Given the description of an element on the screen output the (x, y) to click on. 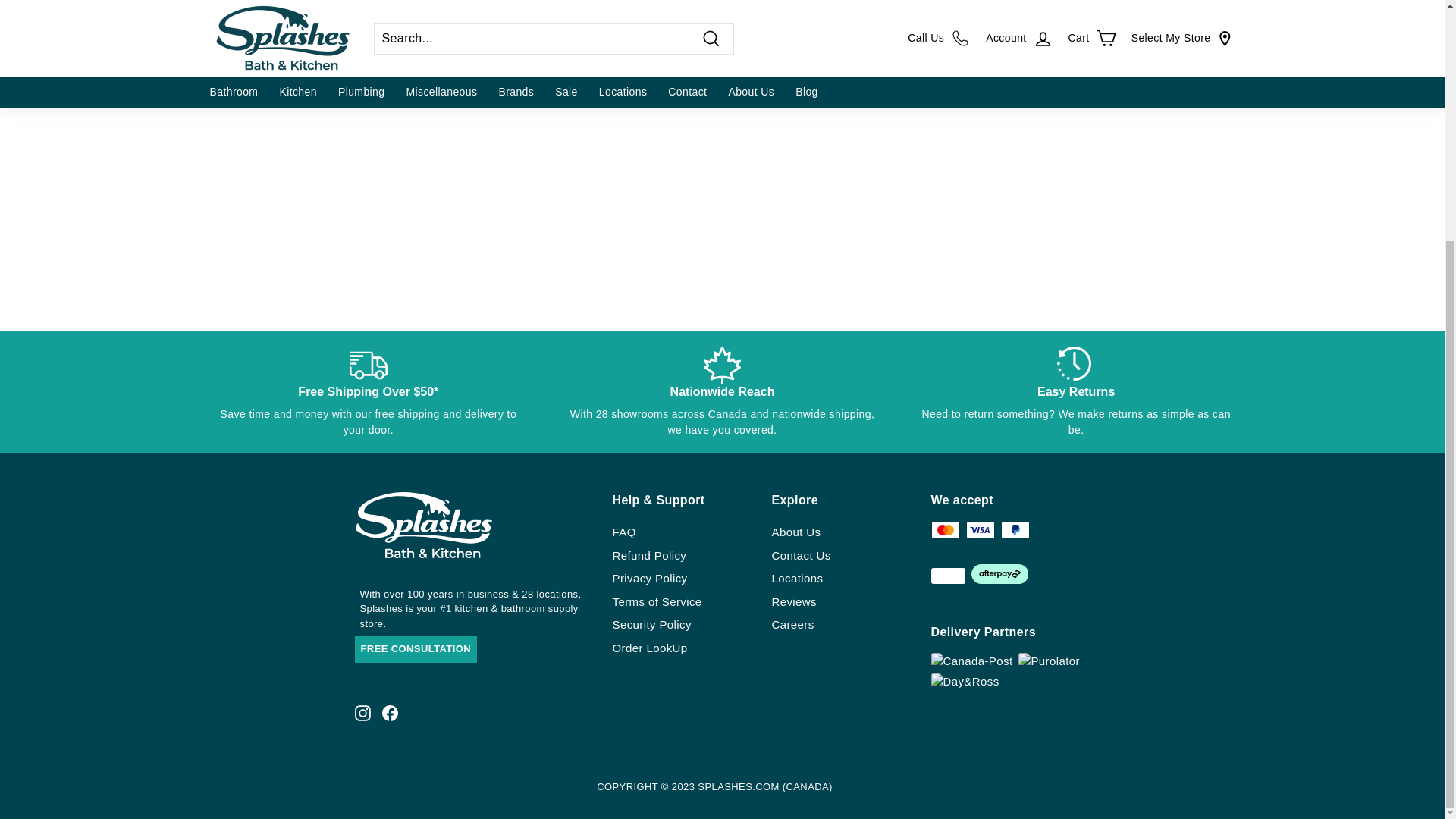
PayPal (1015, 529)
Splashes on Instagram (363, 712)
Mastercard (945, 529)
Purolator (1047, 661)
Canada post (972, 661)
Splashes on Facebook (389, 712)
Visa (980, 529)
